Given the description of an element on the screen output the (x, y) to click on. 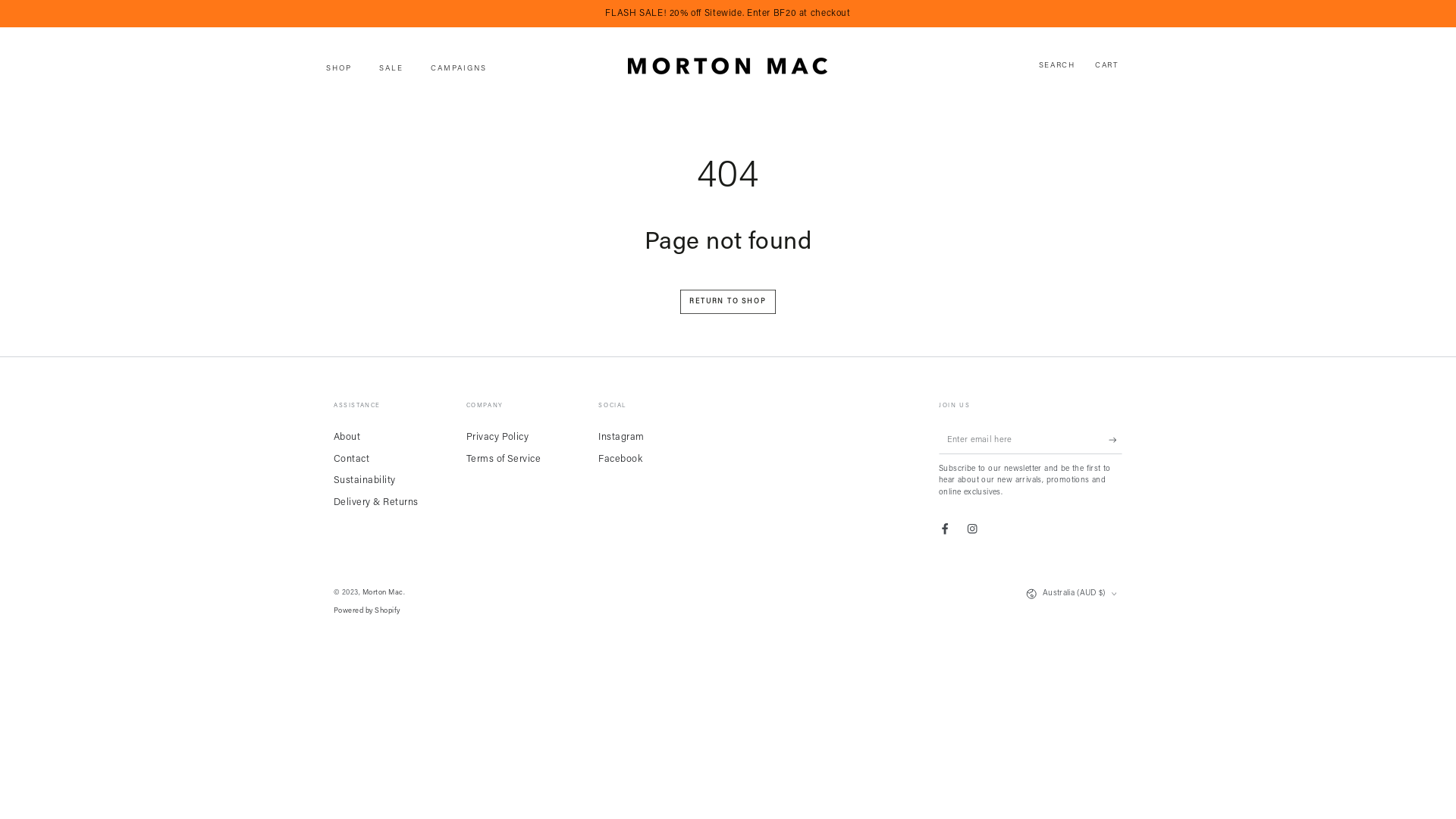
SHOP Element type: text (338, 69)
Sustainability Element type: text (364, 480)
Terms of Service Element type: text (503, 459)
SALE Element type: text (391, 69)
About Element type: text (346, 437)
Facebook Element type: text (944, 529)
Morton Mac Element type: text (382, 592)
RETURN TO SHOP Element type: text (727, 301)
Australia (AUD $) Element type: text (1074, 594)
Instagram Element type: text (972, 529)
Delivery & Returns Element type: text (375, 502)
Powered by Shopify Element type: text (366, 610)
Privacy Policy Element type: text (497, 437)
CAMPAIGNS Element type: text (458, 69)
FLASH SALE! 20% off Sitewide. Enter BF20 at checkout Element type: text (727, 12)
Contact Element type: text (351, 459)
Facebook Element type: text (620, 459)
Instagram Element type: text (620, 437)
